Given the description of an element on the screen output the (x, y) to click on. 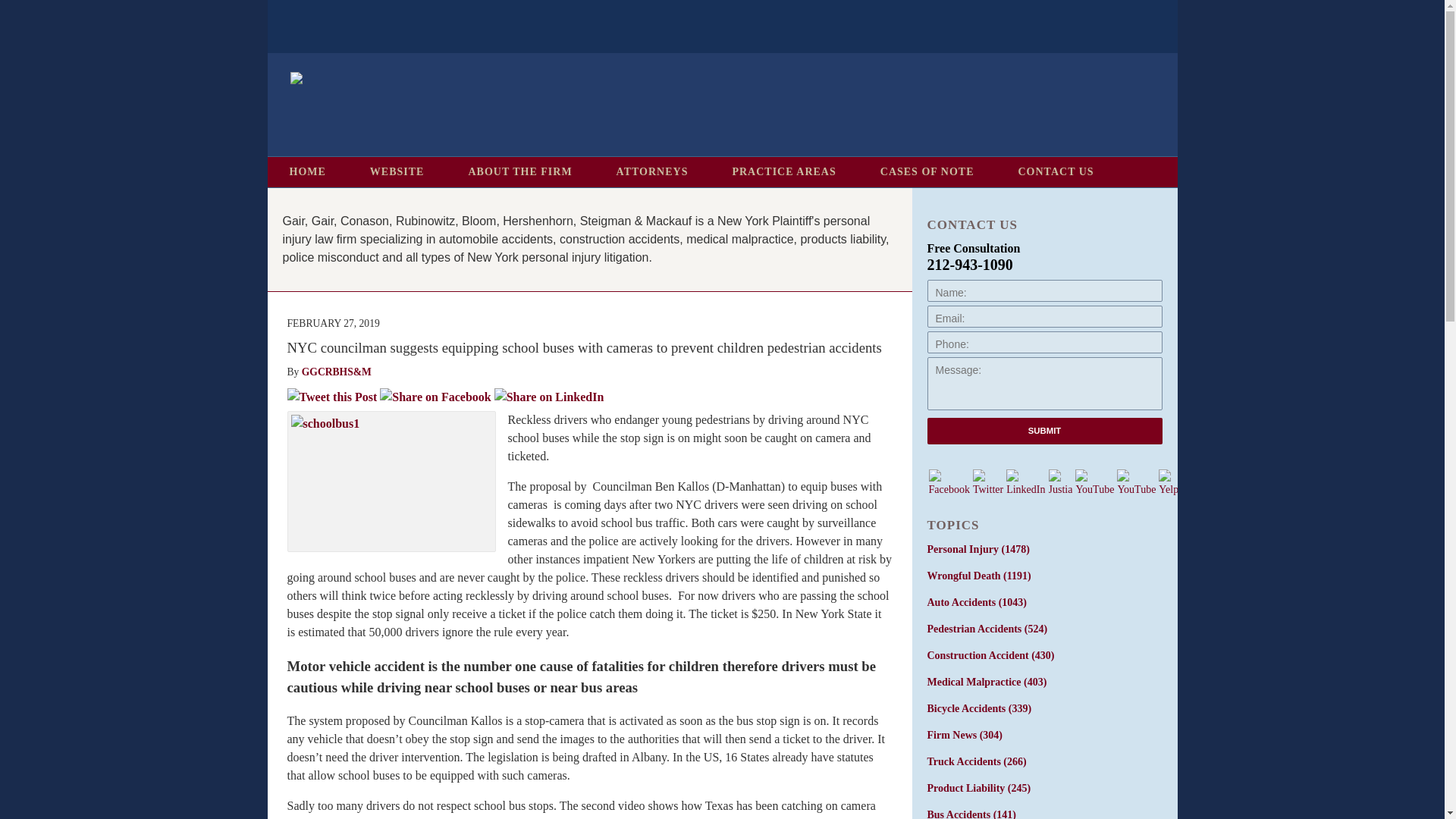
Justia (1060, 483)
LinkedIn (1025, 483)
WEBSITE (396, 172)
Facebook (948, 483)
HOME (306, 172)
Facebook (948, 483)
Please enter a valid phone number. (1043, 341)
CASES OF NOTE (927, 172)
Twitter (987, 483)
LinkedIn (1025, 483)
SUBMIT (1043, 430)
PRACTICE AREAS (783, 172)
CONTACT US (1055, 172)
ATTORNEYS (652, 172)
